Given the description of an element on the screen output the (x, y) to click on. 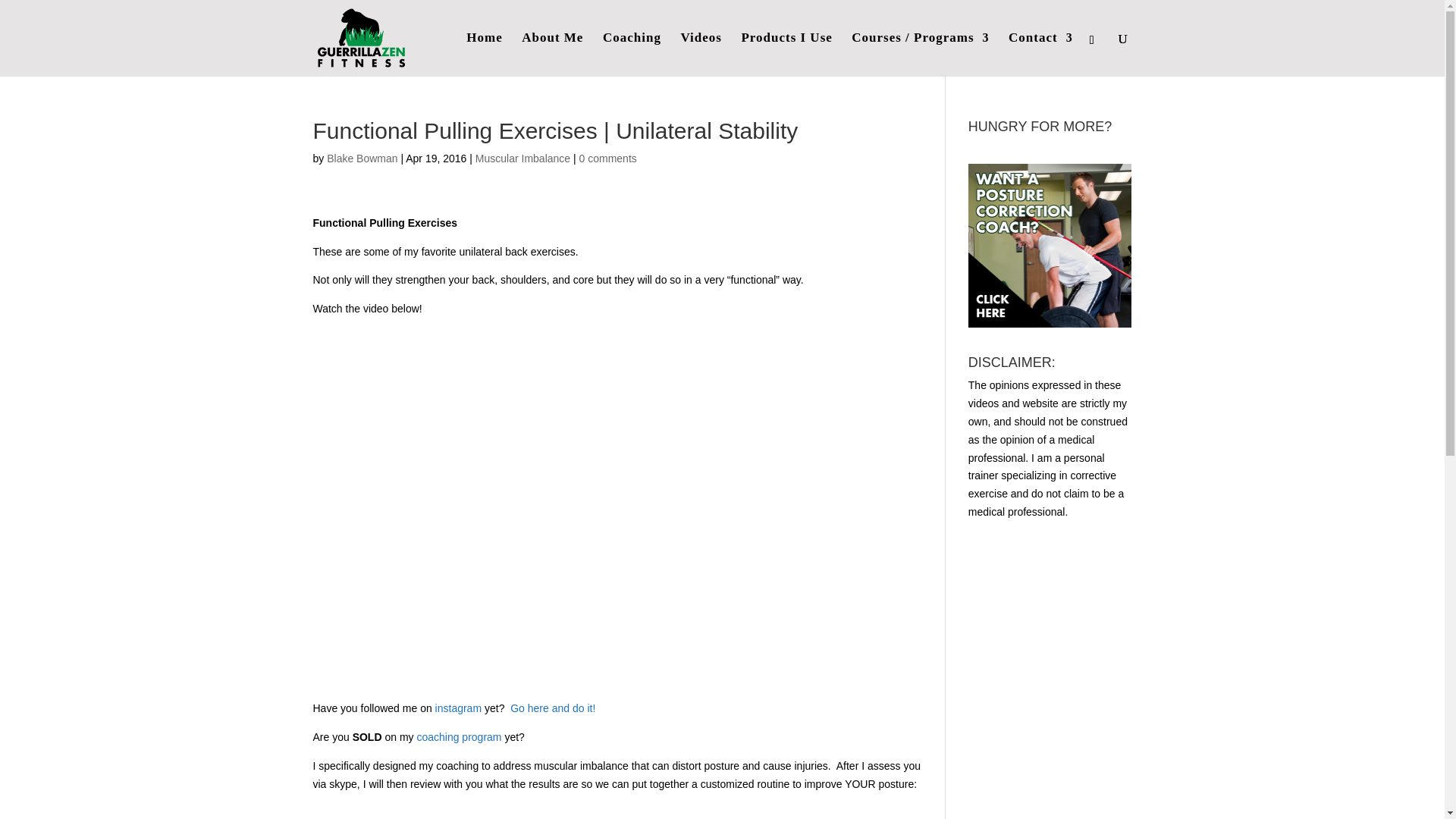
About Me (552, 54)
Coaching (631, 54)
Products I Use (786, 54)
Videos (700, 54)
Contact (1041, 54)
Posts by Blake Bowman (361, 158)
